Given the description of an element on the screen output the (x, y) to click on. 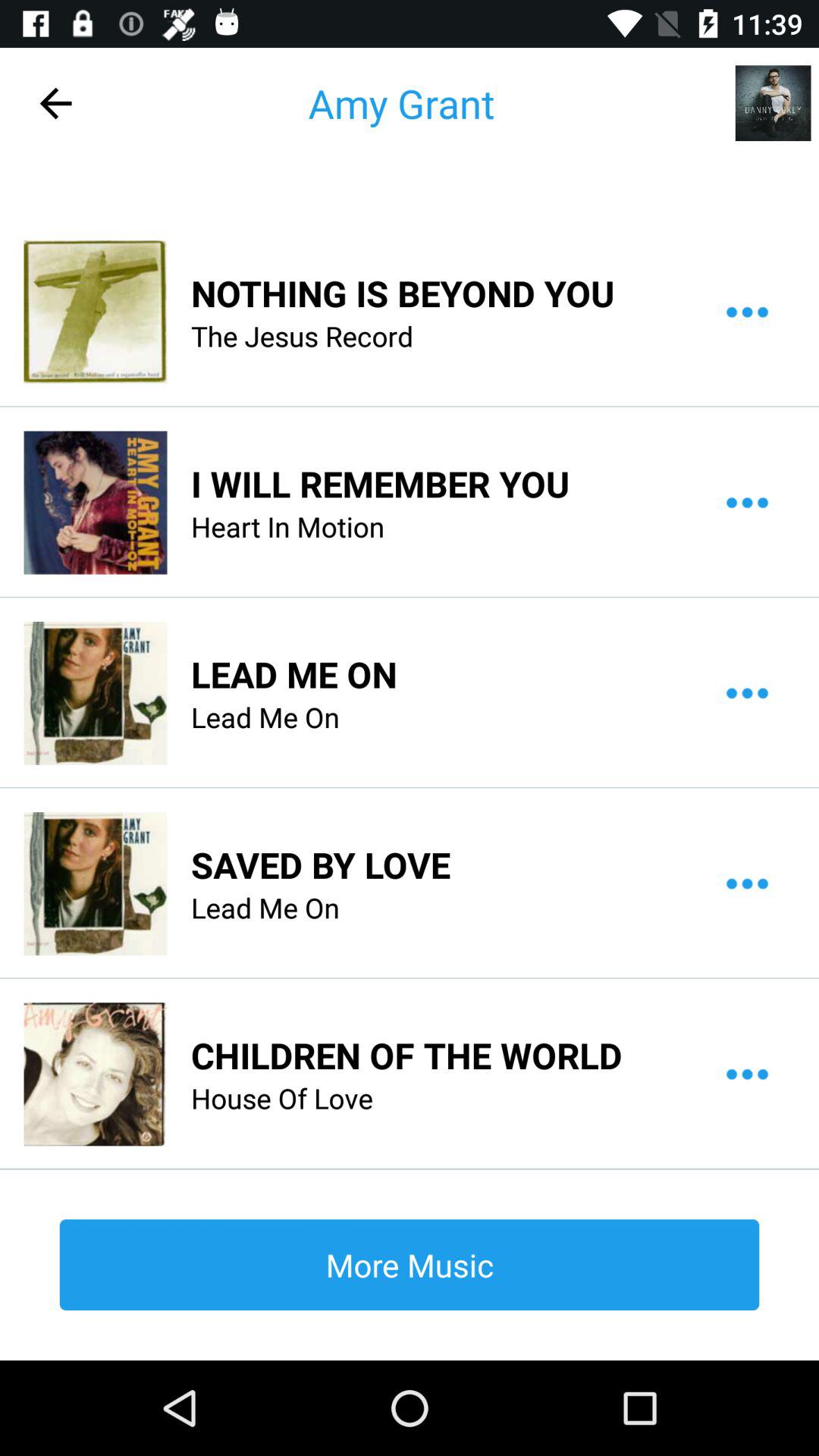
launch the icon below nothing is beyond (302, 335)
